Given the description of an element on the screen output the (x, y) to click on. 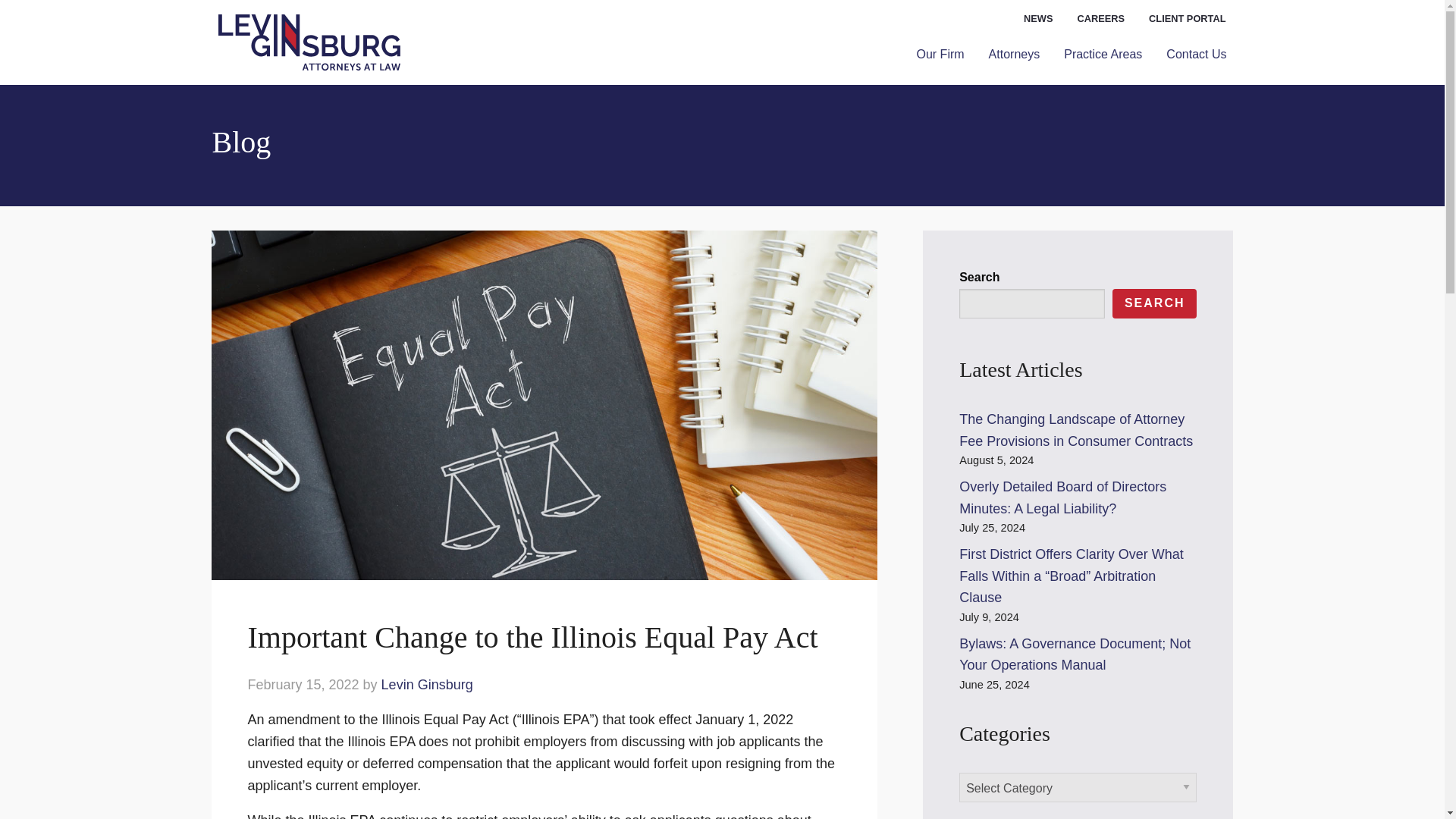
CLIENT PORTAL (1187, 18)
Our Firm (939, 54)
home (309, 41)
Posts by Levin Ginsburg (427, 684)
Attorneys (1014, 54)
NEWS (1037, 18)
CAREERS (1100, 18)
